Given the description of an element on the screen output the (x, y) to click on. 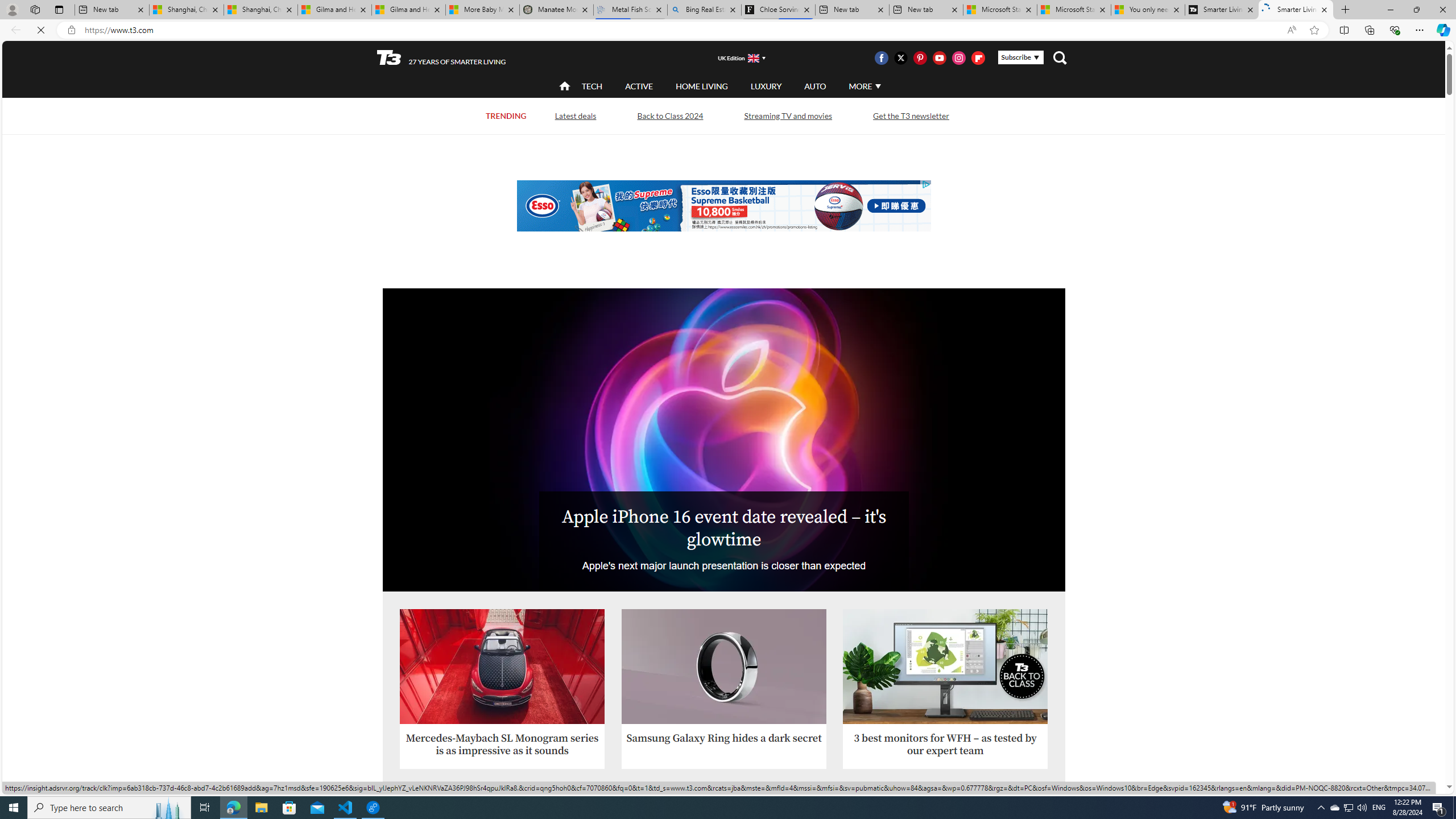
Get the T3 newsletter (910, 115)
Chloe Sorvino (777, 9)
AUTO (815, 85)
MORE  (863, 86)
home (564, 86)
ACTIVE (638, 86)
Latest deals (575, 115)
TECH (591, 85)
UK Edition (736, 57)
Mercedes-Maybach SL Monogram Series (501, 666)
